Given the description of an element on the screen output the (x, y) to click on. 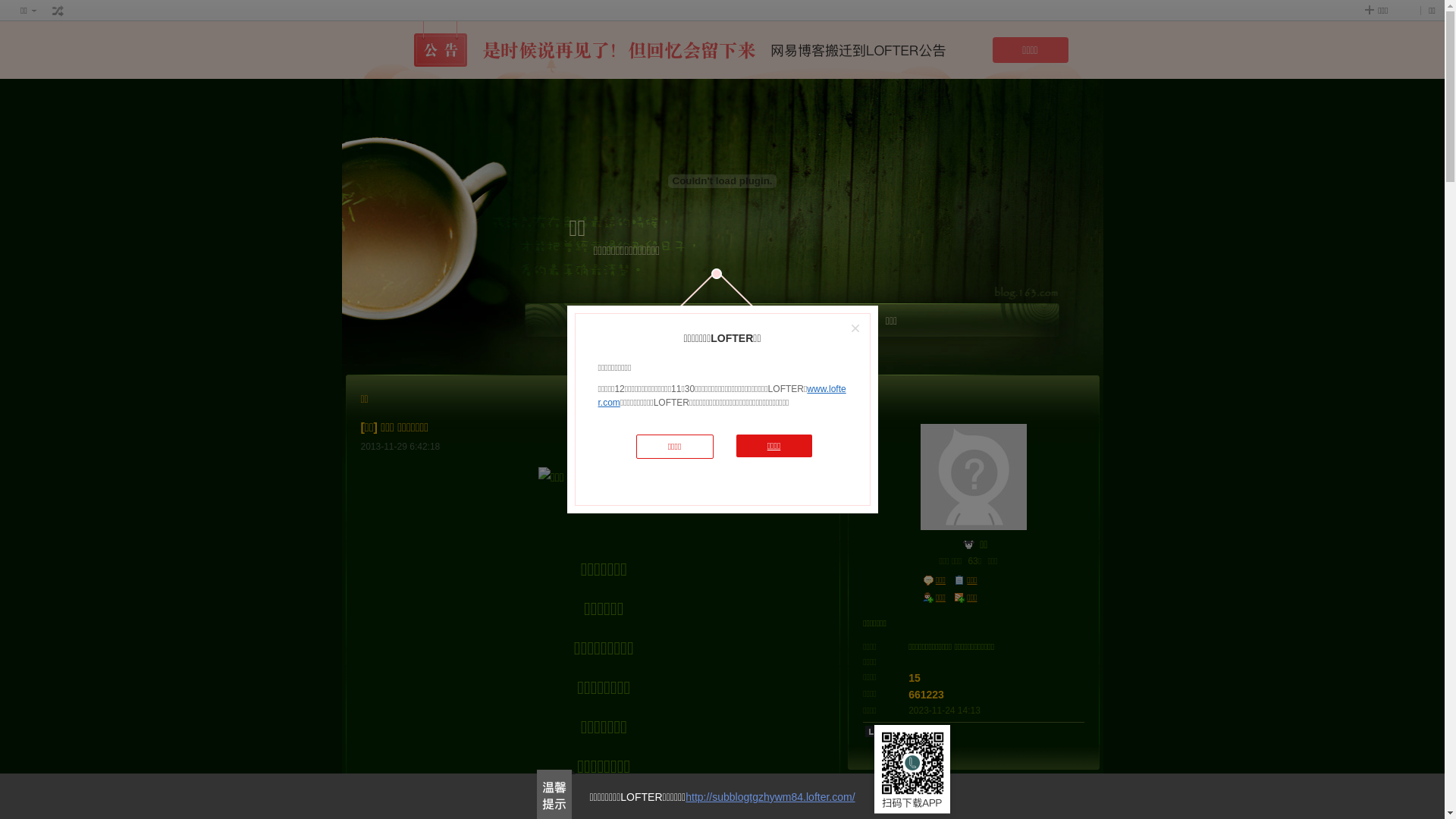
LOFTER Element type: text (731, 324)
  Element type: text (968, 544)
http://subblogtgzhywm84.lofter.com/ Element type: text (769, 796)
  Element type: text (58, 10)
www.lofter.com Element type: text (721, 395)
